Given the description of an element on the screen output the (x, y) to click on. 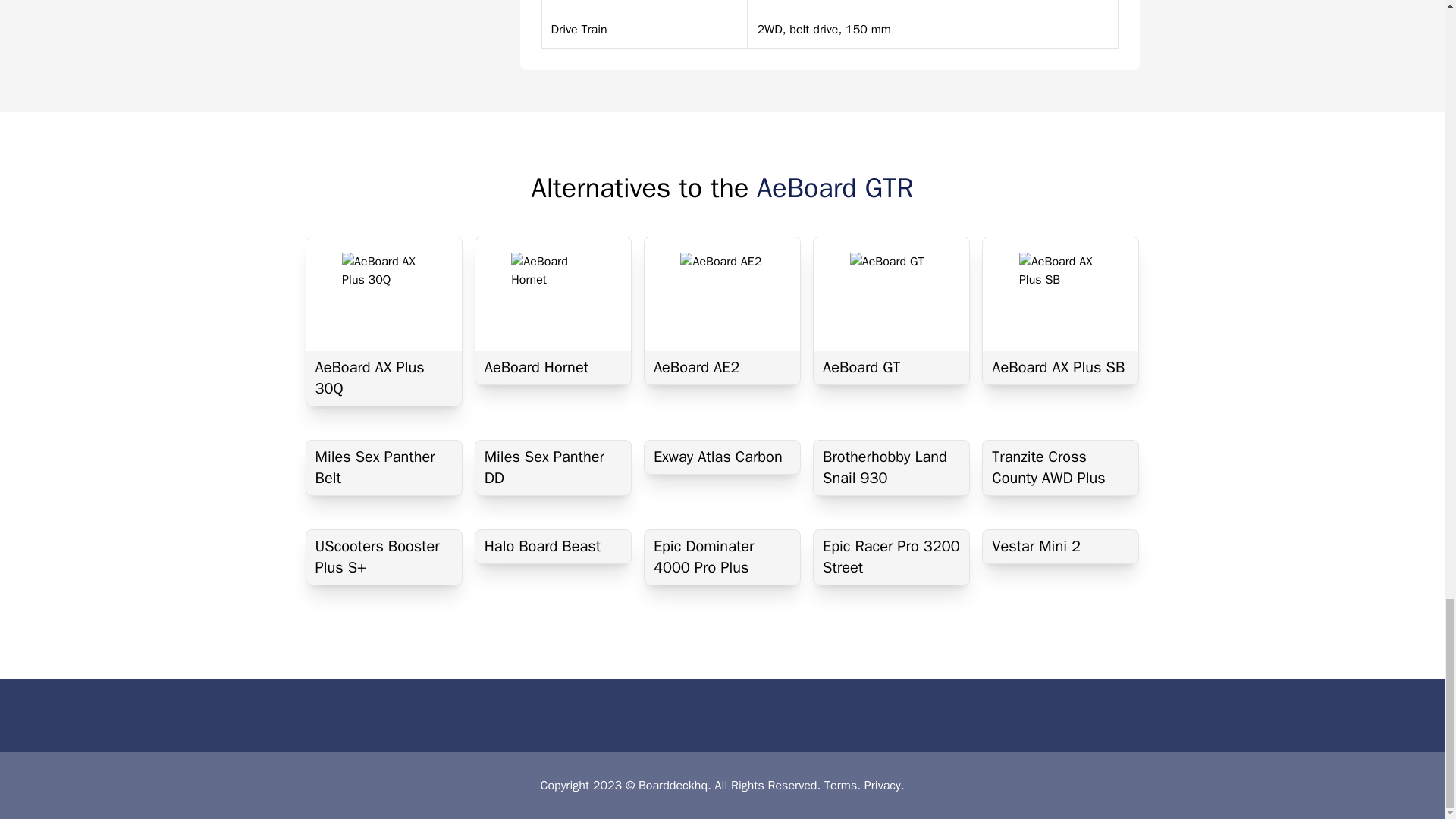
Halo Board Beast (553, 546)
AeBoard Hornet (553, 367)
Miles Sex Panther DD (553, 467)
AeBoard AX Plus 30Q (383, 378)
AeBoard AE2 (722, 367)
Epic Dominater 4000 Pro Plus (722, 556)
Epic Racer Pro 3200 Street (891, 556)
AeBoard AX Plus SB (1060, 367)
Tranzite Cross County AWD Plus (1060, 467)
Miles Sex Panther Belt (383, 467)
AeBoard GT (891, 367)
Brotherhobby Land Snail 930 (891, 467)
Exway Atlas Carbon (722, 457)
